Given the description of an element on the screen output the (x, y) to click on. 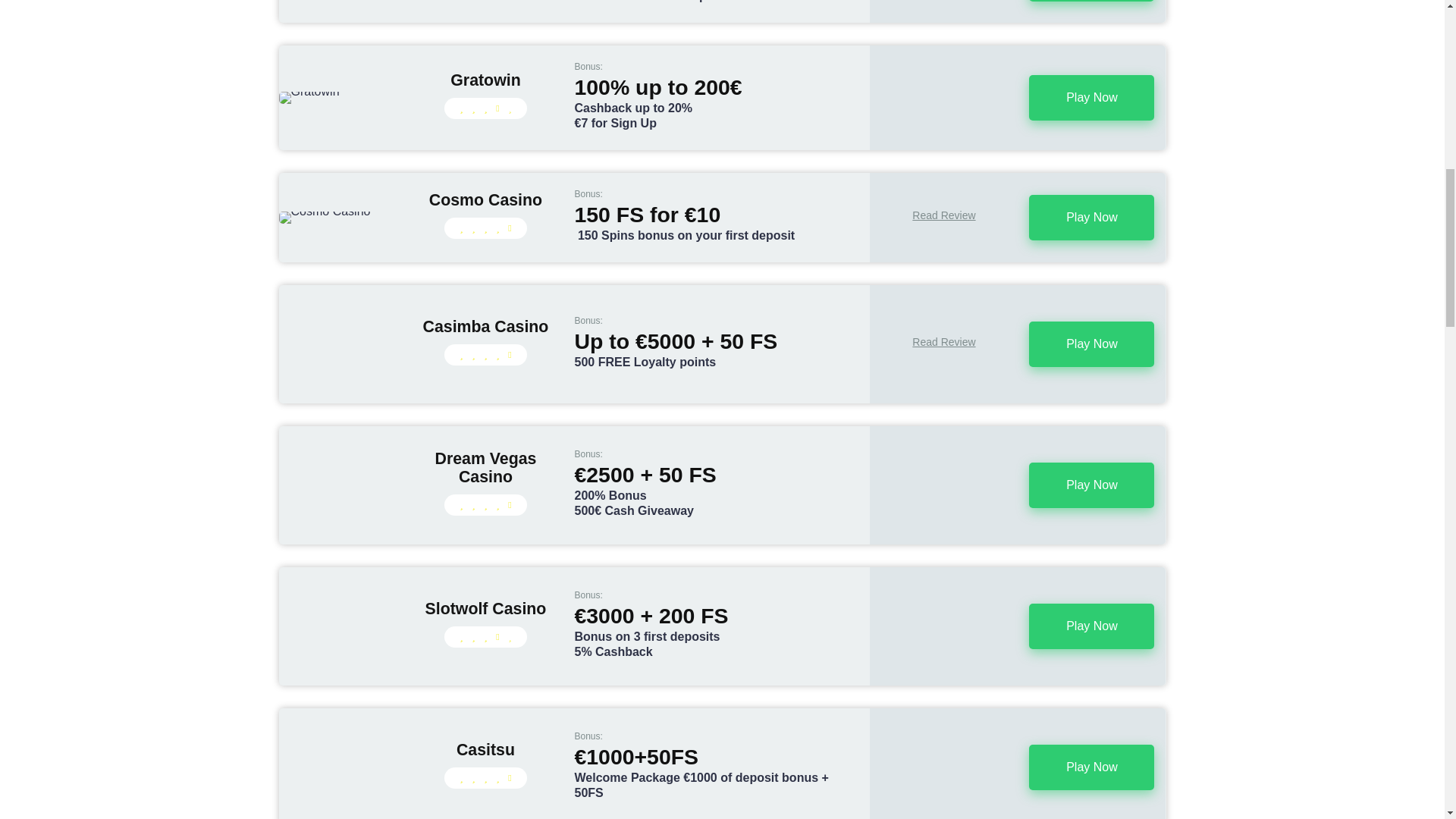
Read Review (943, 341)
Cosmo Casino (485, 200)
Casimba Casino (485, 326)
Read Review (943, 215)
Read Review (943, 341)
Casimba Casino (485, 326)
Cosmo Casino (485, 200)
Read Review (943, 215)
